Given the description of an element on the screen output the (x, y) to click on. 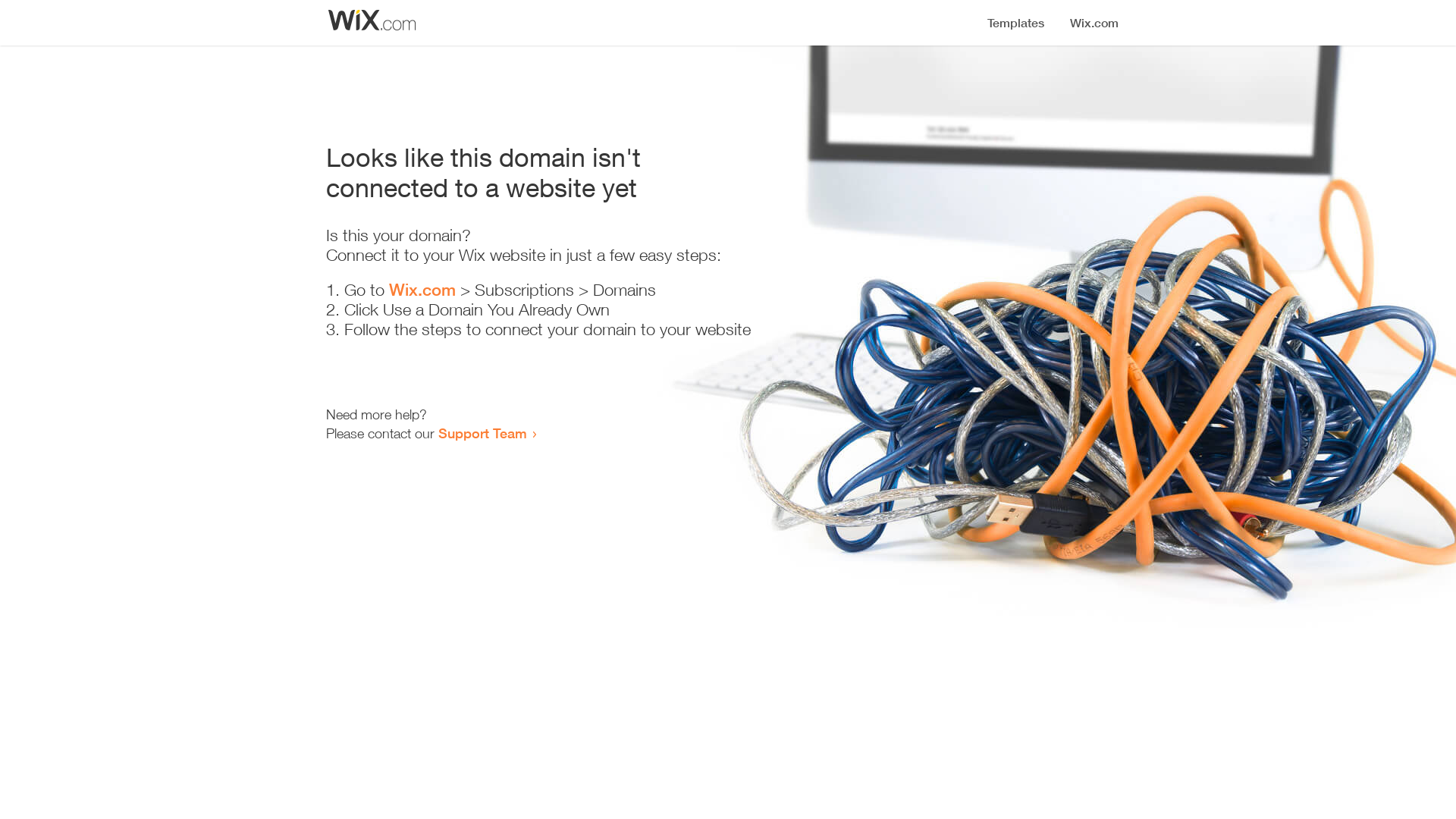
Wix.com Element type: text (422, 289)
Support Team Element type: text (482, 432)
